Given the description of an element on the screen output the (x, y) to click on. 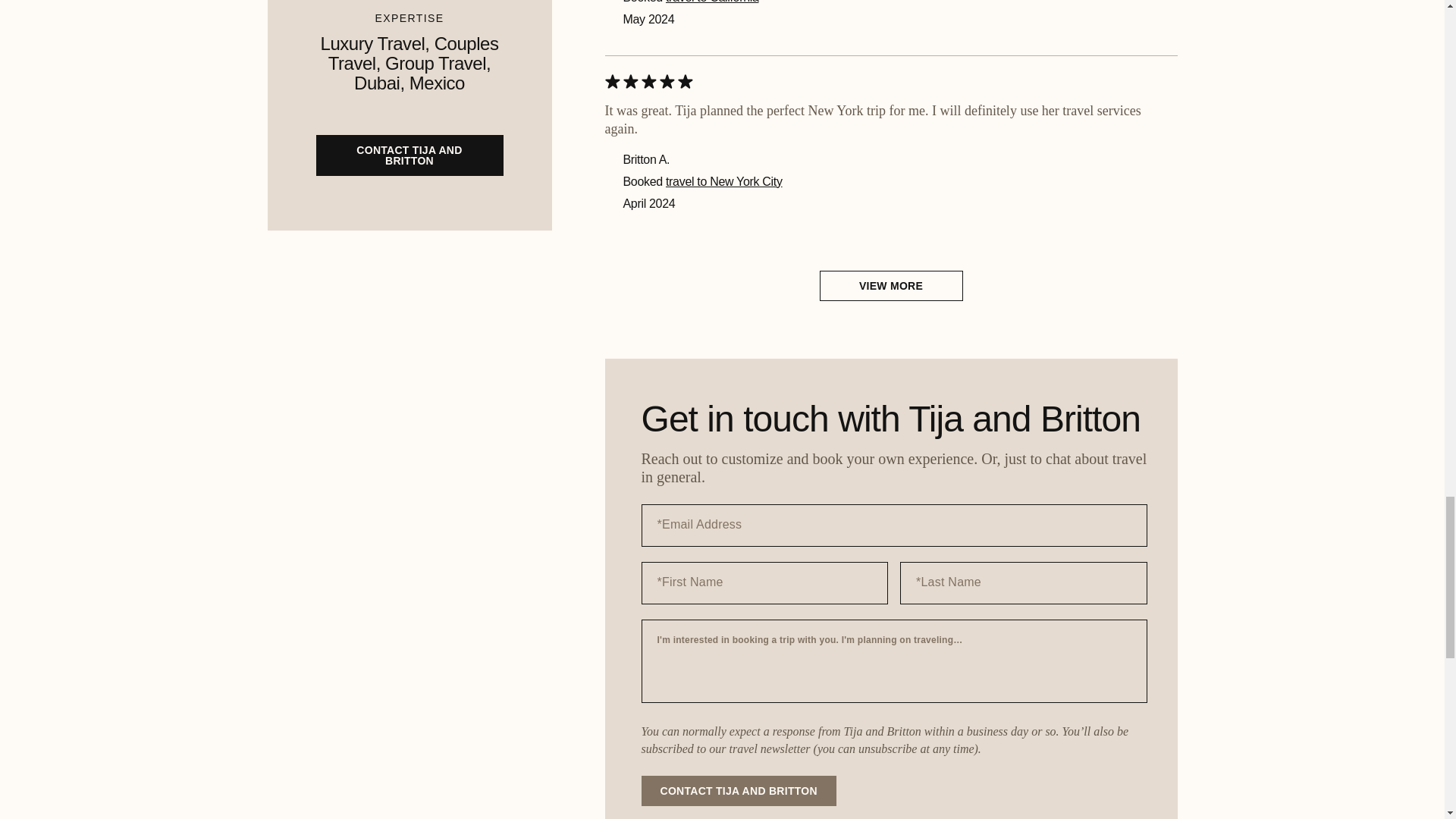
CONTACT TIJA AND BRITTON (738, 790)
travel to New York City (724, 181)
travel to California (711, 2)
VIEW MORE (890, 286)
